Given the description of an element on the screen output the (x, y) to click on. 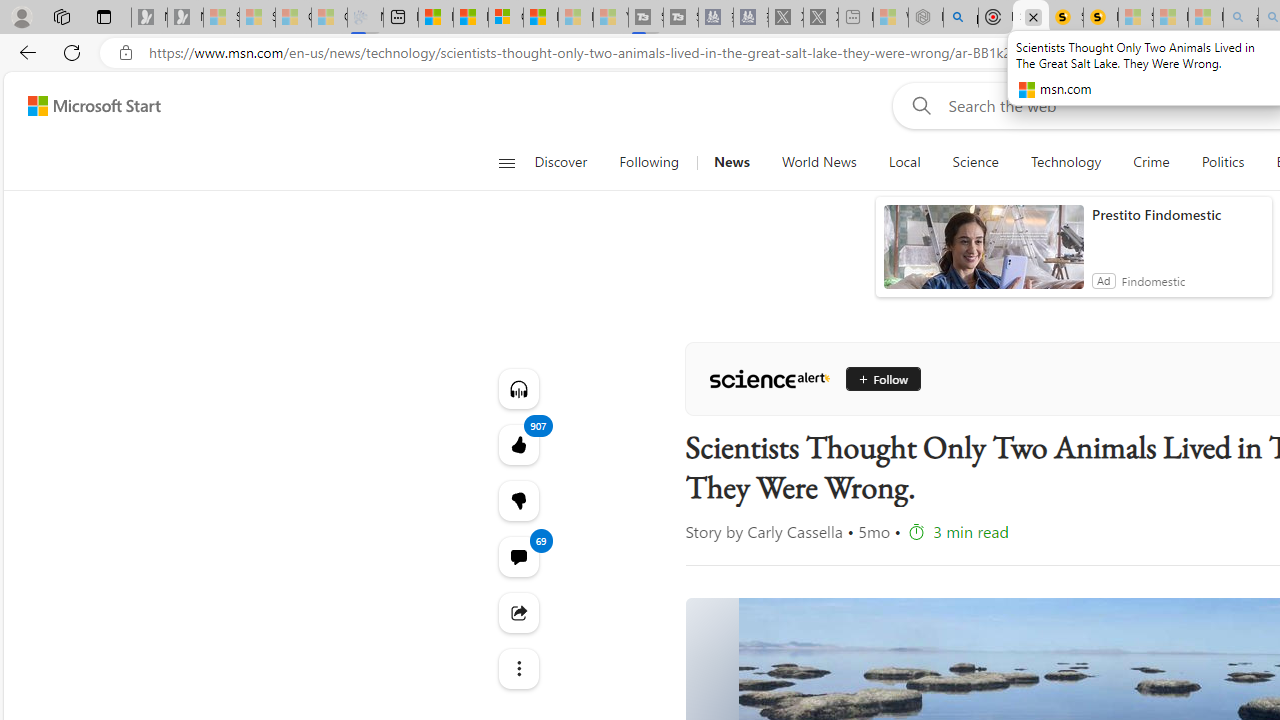
See more (517, 668)
Microsoft Start - Sleeping (575, 17)
Nordace - Summer Adventures 2024 - Sleeping (925, 17)
Ad (1103, 280)
Science (975, 162)
Local (904, 162)
Follow (882, 378)
poe - Search (960, 17)
Share this story (517, 612)
Prestito Findomestic (1177, 214)
